Given the description of an element on the screen output the (x, y) to click on. 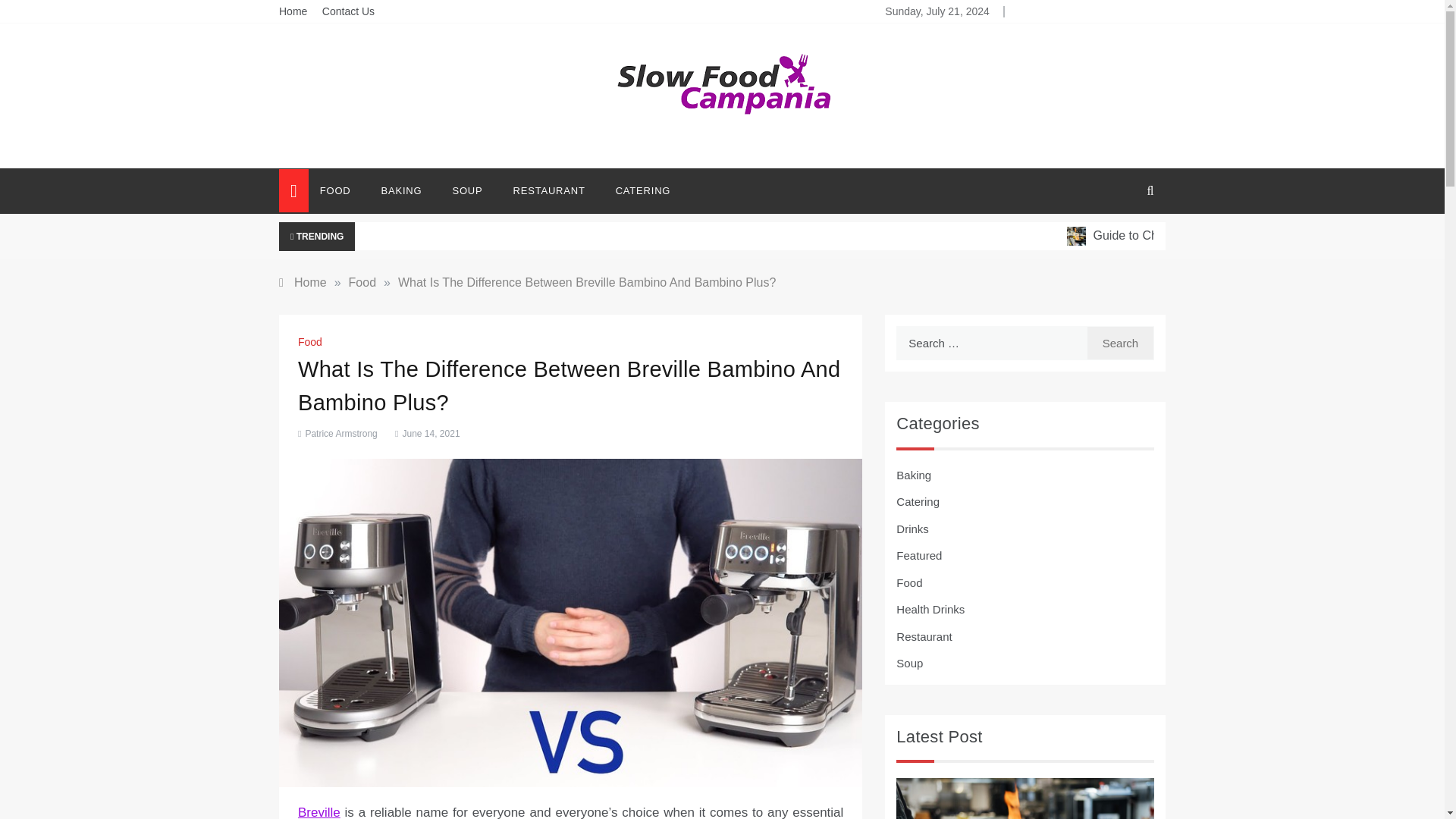
June 14, 2021 (426, 433)
FOOD (343, 190)
Food (362, 282)
Breville (319, 812)
RESTAURANT (548, 190)
Search (1120, 342)
SOUP (466, 190)
Home (293, 10)
BAKING (402, 190)
Slow Food Campania (721, 161)
Search (1120, 342)
Contact Us (347, 10)
Food (312, 341)
Patrice Armstrong (340, 433)
